Given the description of an element on the screen output the (x, y) to click on. 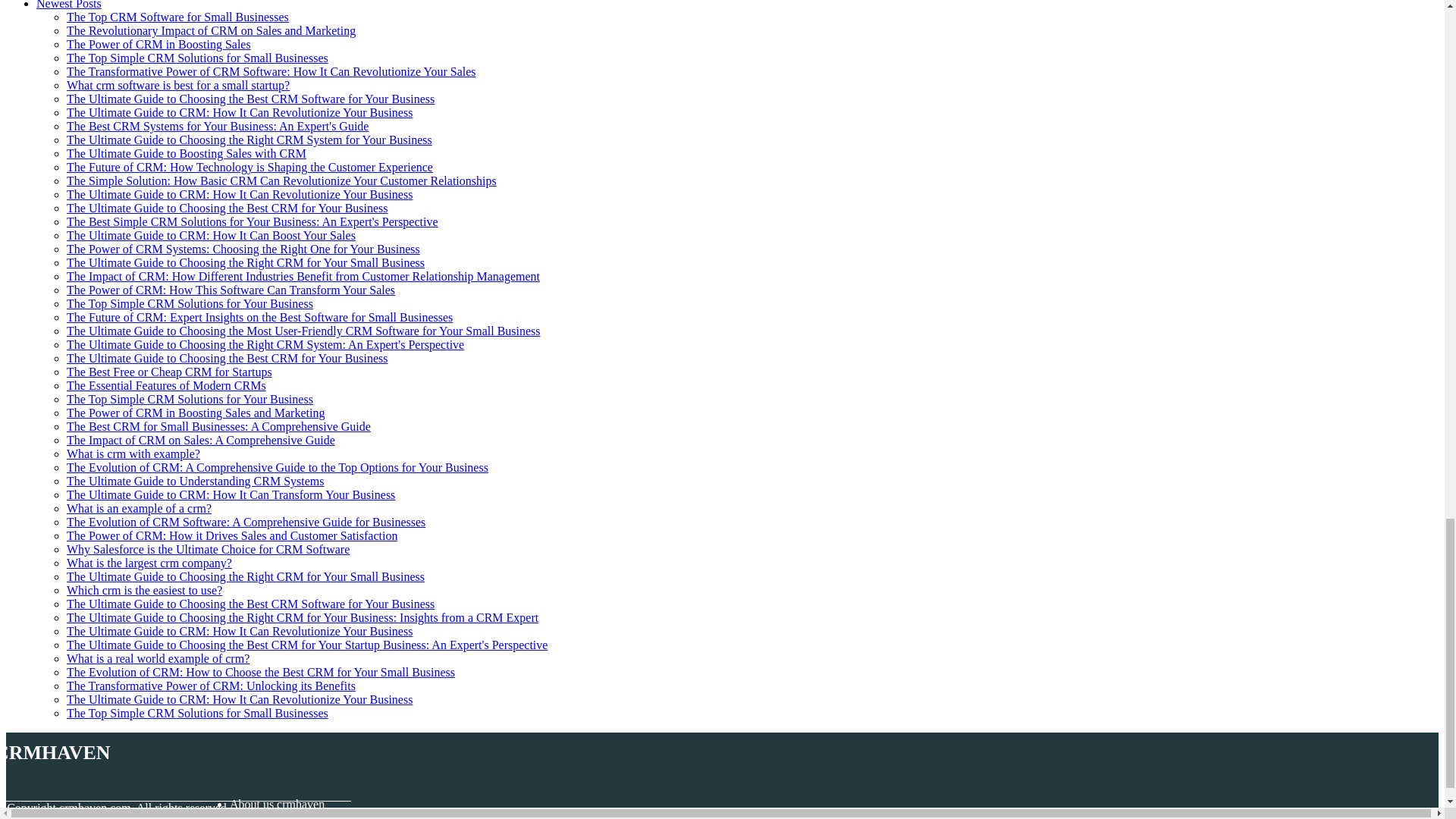
The Top CRM Software for Small Businesses (177, 16)
What crm software is best for a small startup? (177, 84)
The Power of CRM in Boosting Sales (158, 43)
Newest Posts (68, 4)
The Top Simple CRM Solutions for Small Businesses (197, 57)
The Ultimate Guide to Boosting Sales with CRM (185, 153)
The Revolutionary Impact of CRM on Sales and Marketing (210, 30)
The Best CRM Systems for Your Business: An Expert's Guide (217, 125)
